Given the description of an element on the screen output the (x, y) to click on. 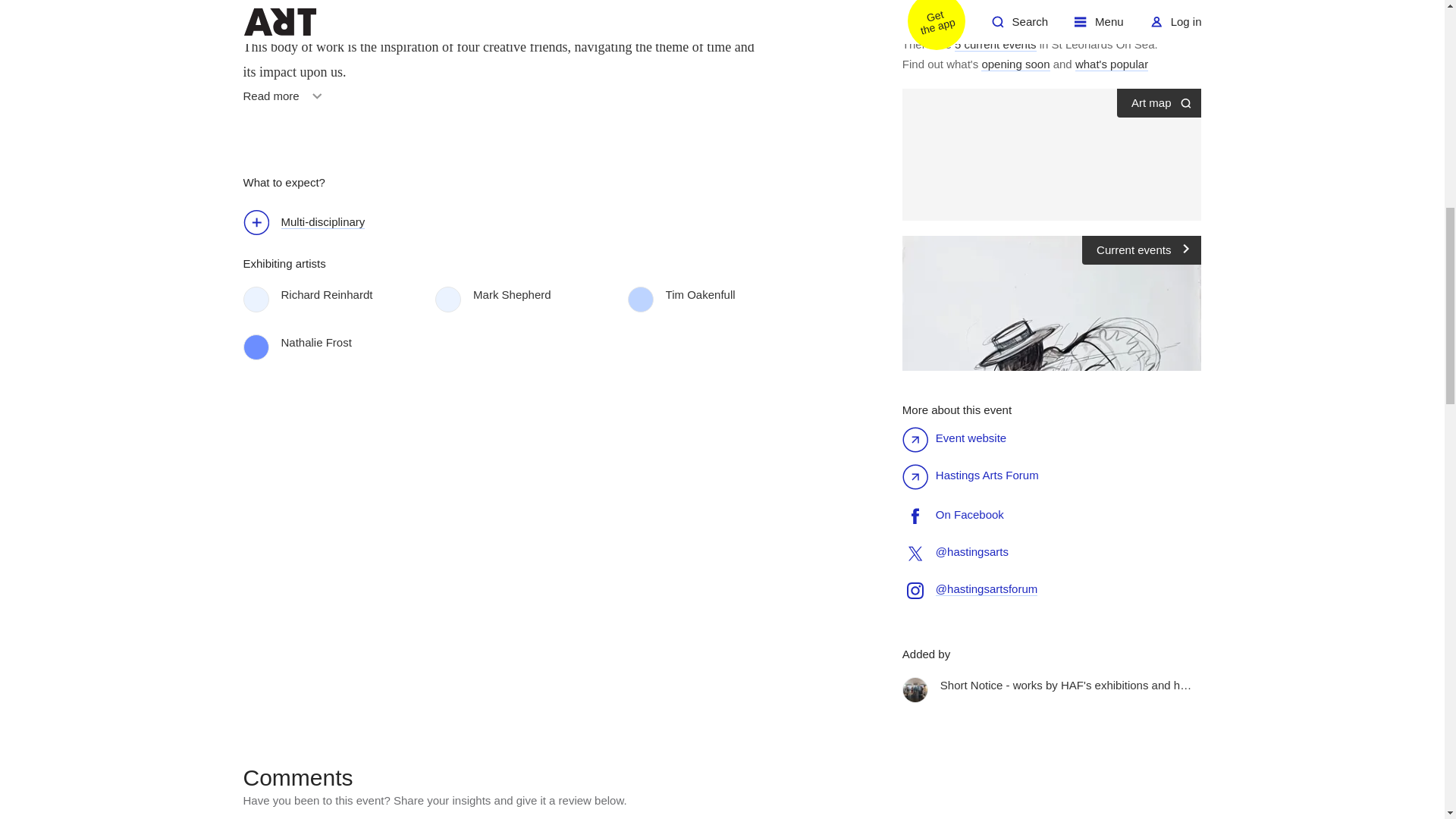
Richard Reinhardt (342, 294)
Multi-disciplinary (286, 101)
